Given the description of an element on the screen output the (x, y) to click on. 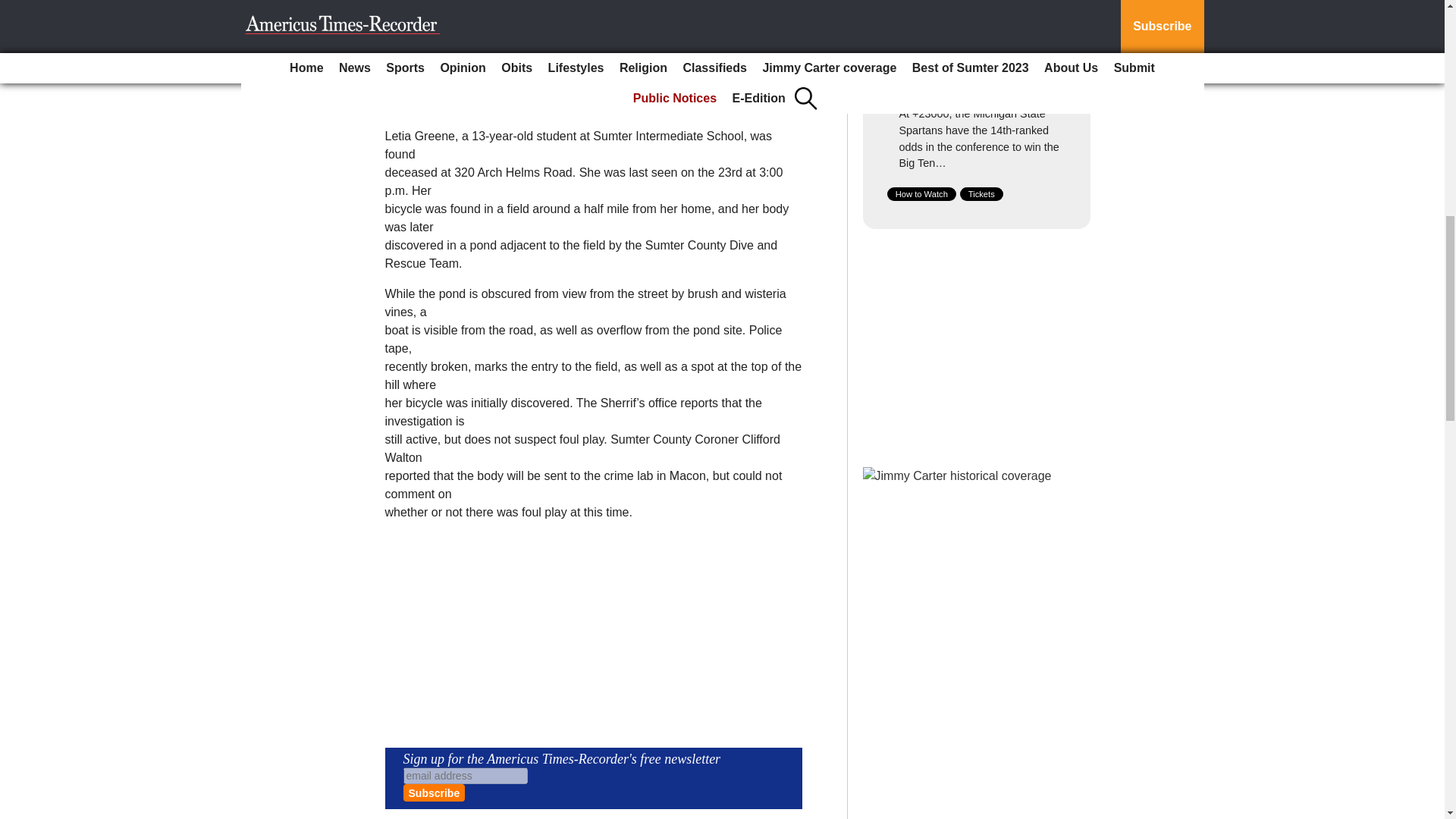
Subscribe (434, 792)
How to Watch (921, 193)
Subscribe (434, 792)
Trinity Audio (497, 62)
Tickets (981, 193)
